Given the description of an element on the screen output the (x, y) to click on. 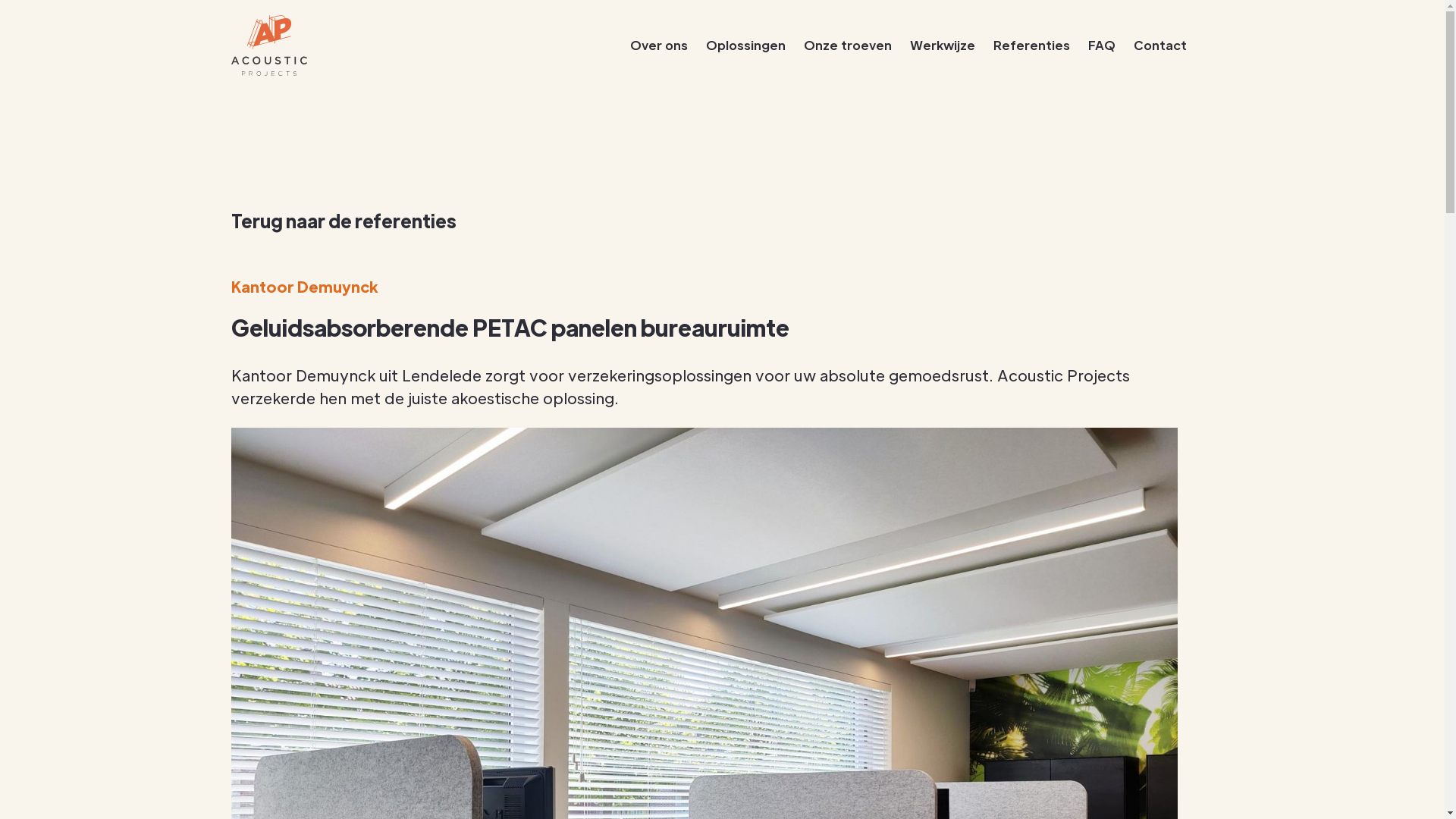
Over ons Element type: text (658, 45)
Referenties Element type: text (1031, 45)
Oplossingen Element type: text (744, 45)
FAQ Element type: text (1100, 45)
Terug naar de referenties Element type: text (342, 220)
Contact Element type: text (1159, 45)
Onze troeven Element type: text (847, 45)
Werkwijze Element type: text (942, 45)
